Given the description of an element on the screen output the (x, y) to click on. 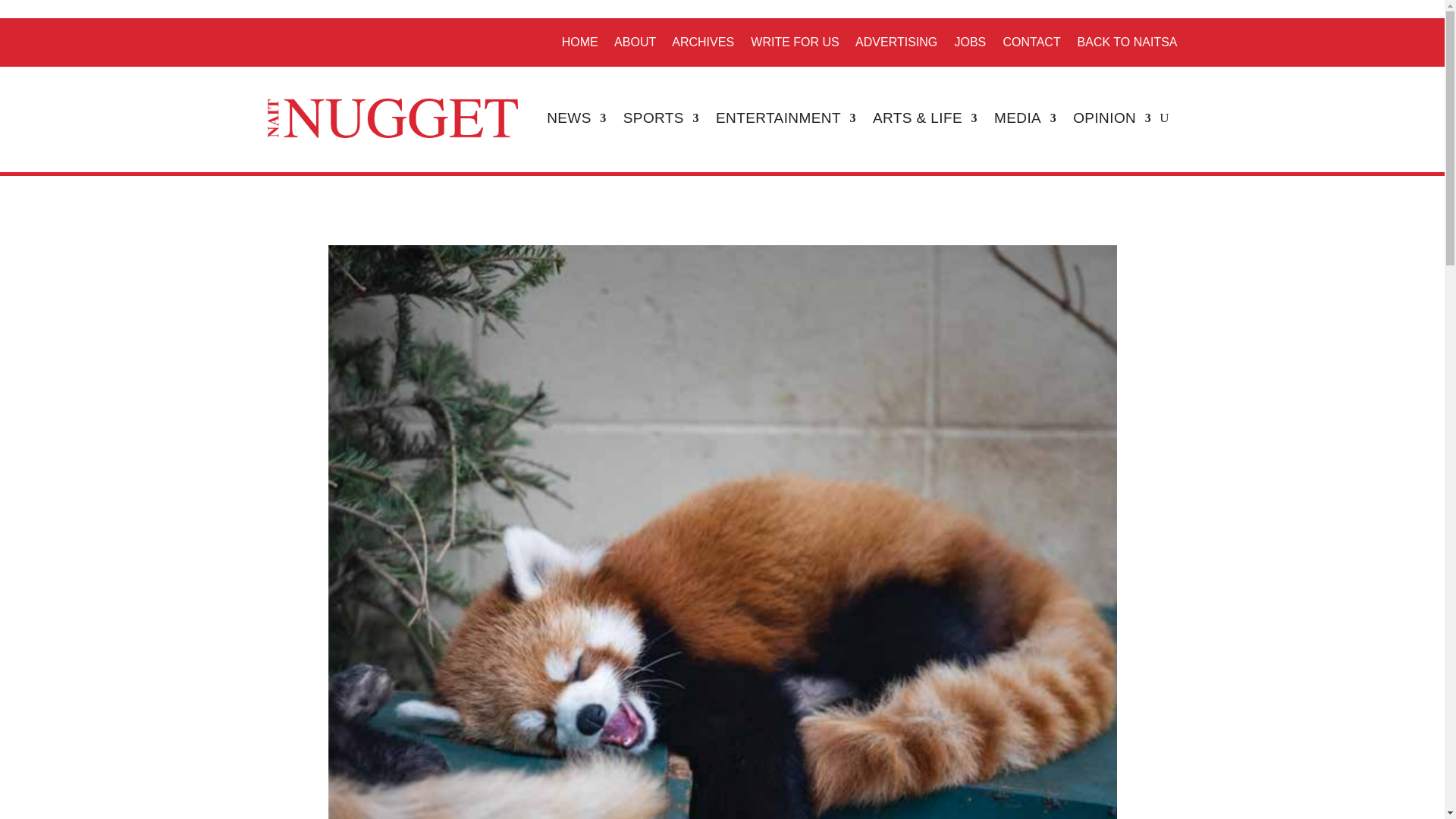
SPORTS (660, 118)
ENTERTAINMENT (786, 118)
BACK TO NAITSA (1127, 42)
HOME (580, 42)
MEDIA (1025, 118)
NEWS (577, 118)
ADVERTISING (896, 42)
ABOUT (635, 42)
JOBS (969, 42)
CONTACT (1032, 42)
ARCHIVES (702, 42)
WRITE FOR US (794, 42)
